Given the description of an element on the screen output the (x, y) to click on. 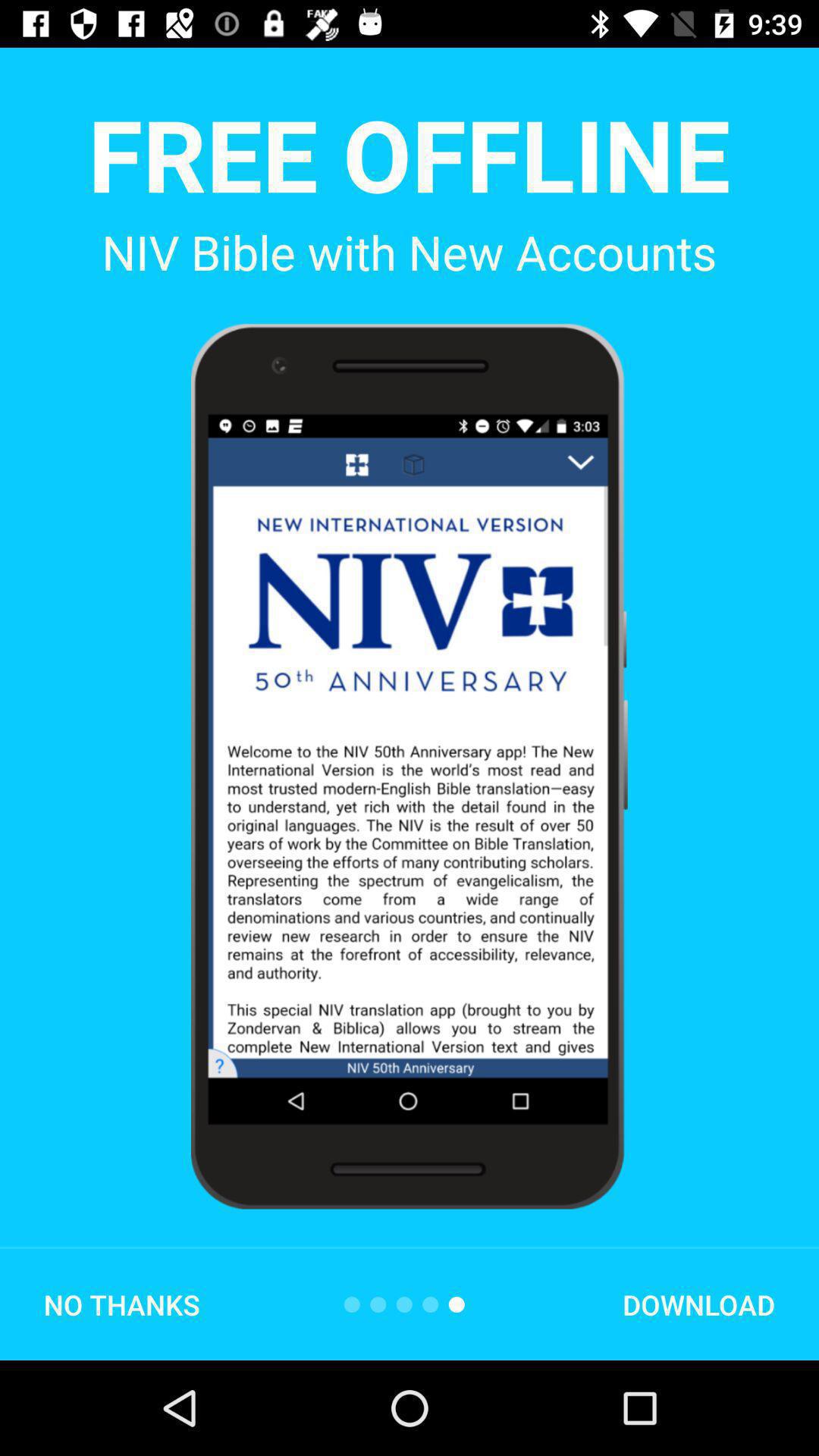
click the download (698, 1304)
